Given the description of an element on the screen output the (x, y) to click on. 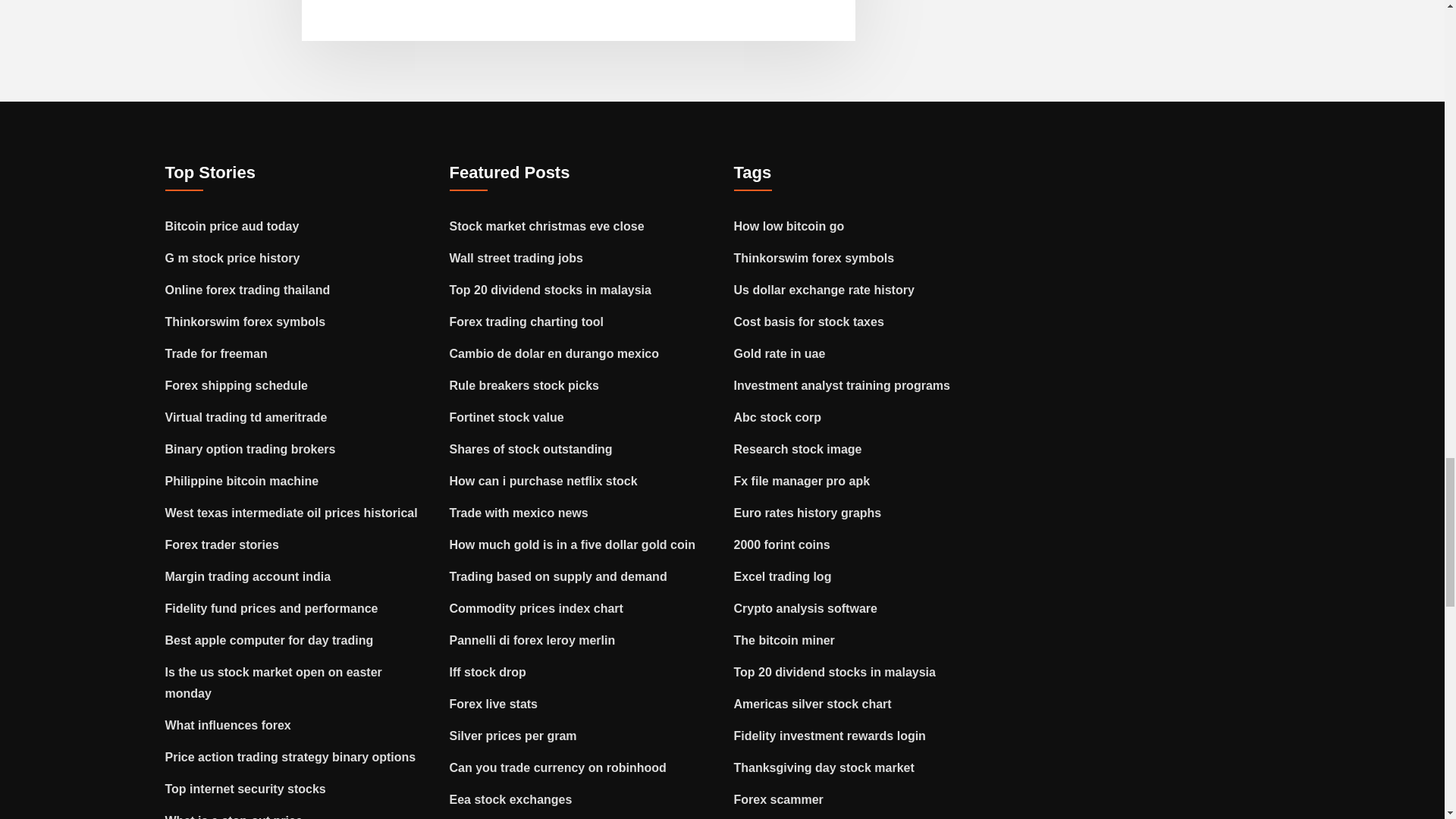
Forex shipping schedule (236, 385)
Margin trading account india (248, 576)
Best apple computer for day trading (269, 640)
Fidelity fund prices and performance (271, 608)
What is a stop-out price (233, 816)
Online forex trading thailand (247, 289)
Trade for freeman (216, 353)
West texas intermediate oil prices historical (291, 512)
Bitcoin price aud today (232, 226)
Virtual trading td ameritrade (246, 417)
